Given the description of an element on the screen output the (x, y) to click on. 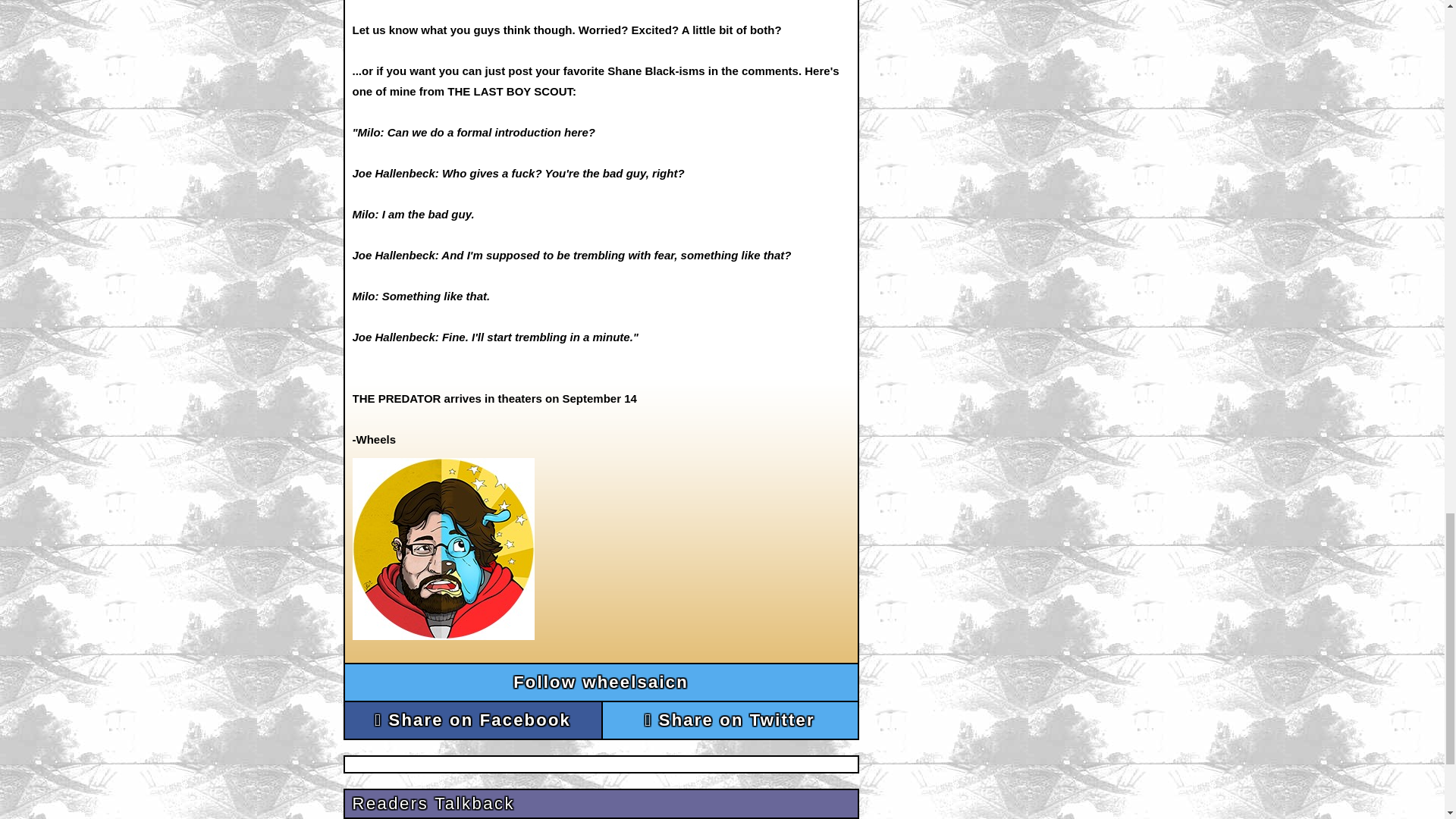
Share on Twitter (729, 719)
Share on Facebook (471, 719)
Follow wheelsaicn (600, 682)
